Given the description of an element on the screen output the (x, y) to click on. 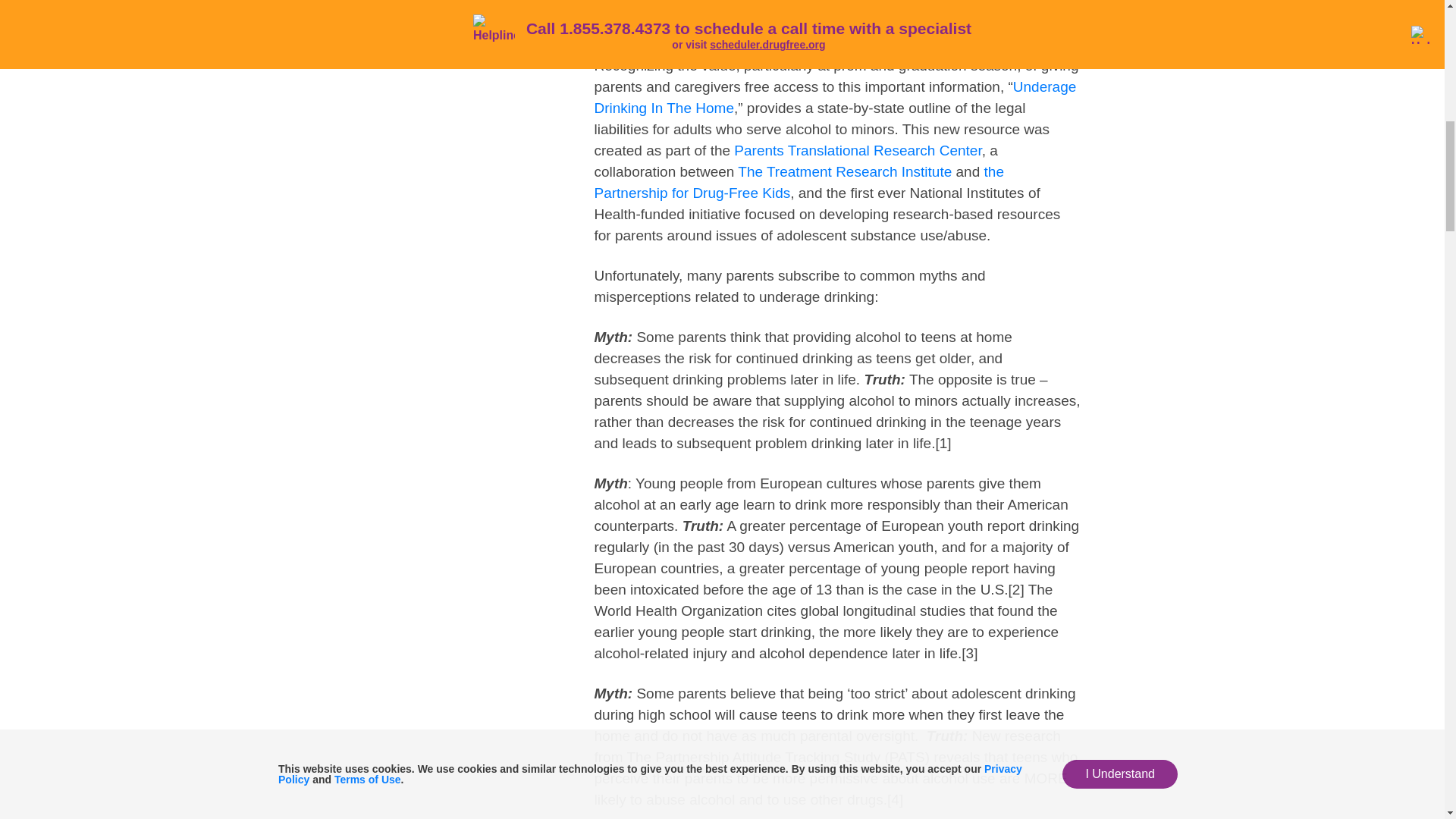
the Partnership for Drug-Free Kids (799, 181)
Parents Translational Research Center (857, 150)
The Treatment Research Institute (845, 171)
Underage Drinking In The Home (835, 97)
